Given the description of an element on the screen output the (x, y) to click on. 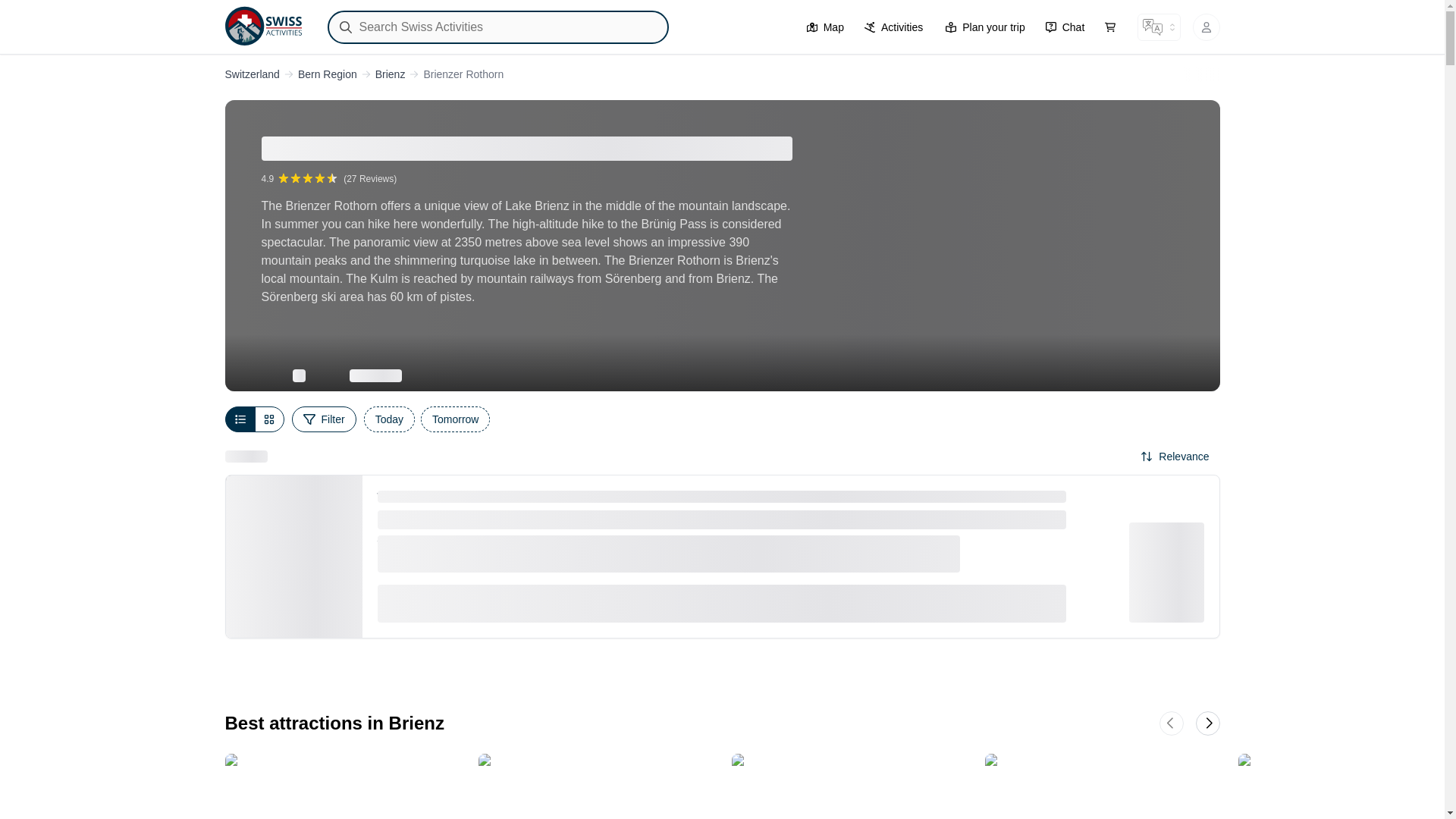
Activities (722, 73)
Map (893, 26)
